Given the description of an element on the screen output the (x, y) to click on. 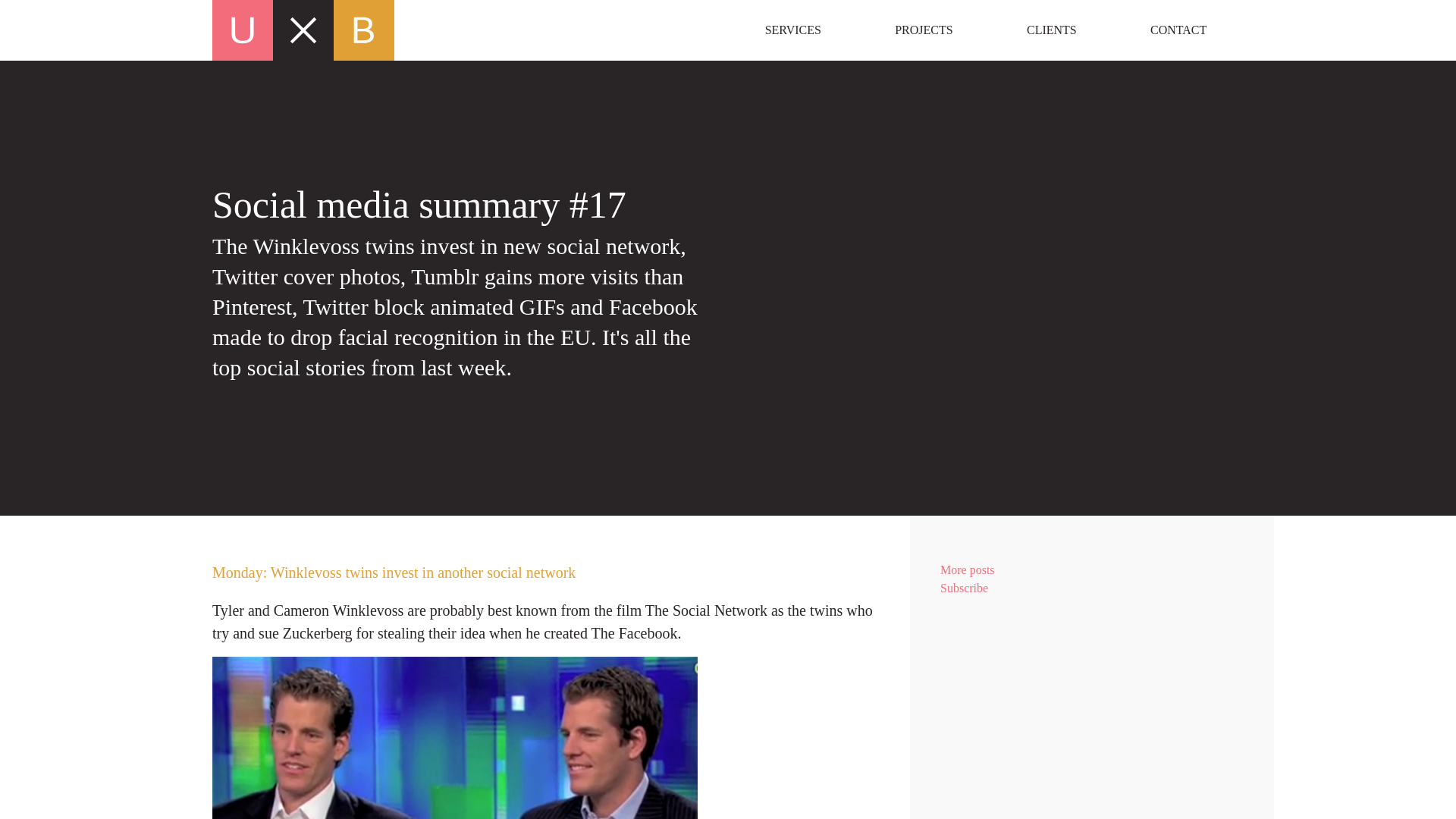
CONTACT (1092, 667)
PROJECTS (1178, 29)
CLIENTS (923, 29)
More posts (1051, 29)
UXB (1091, 570)
Subscribe (470, 30)
SERVICES (1091, 588)
